Given the description of an element on the screen output the (x, y) to click on. 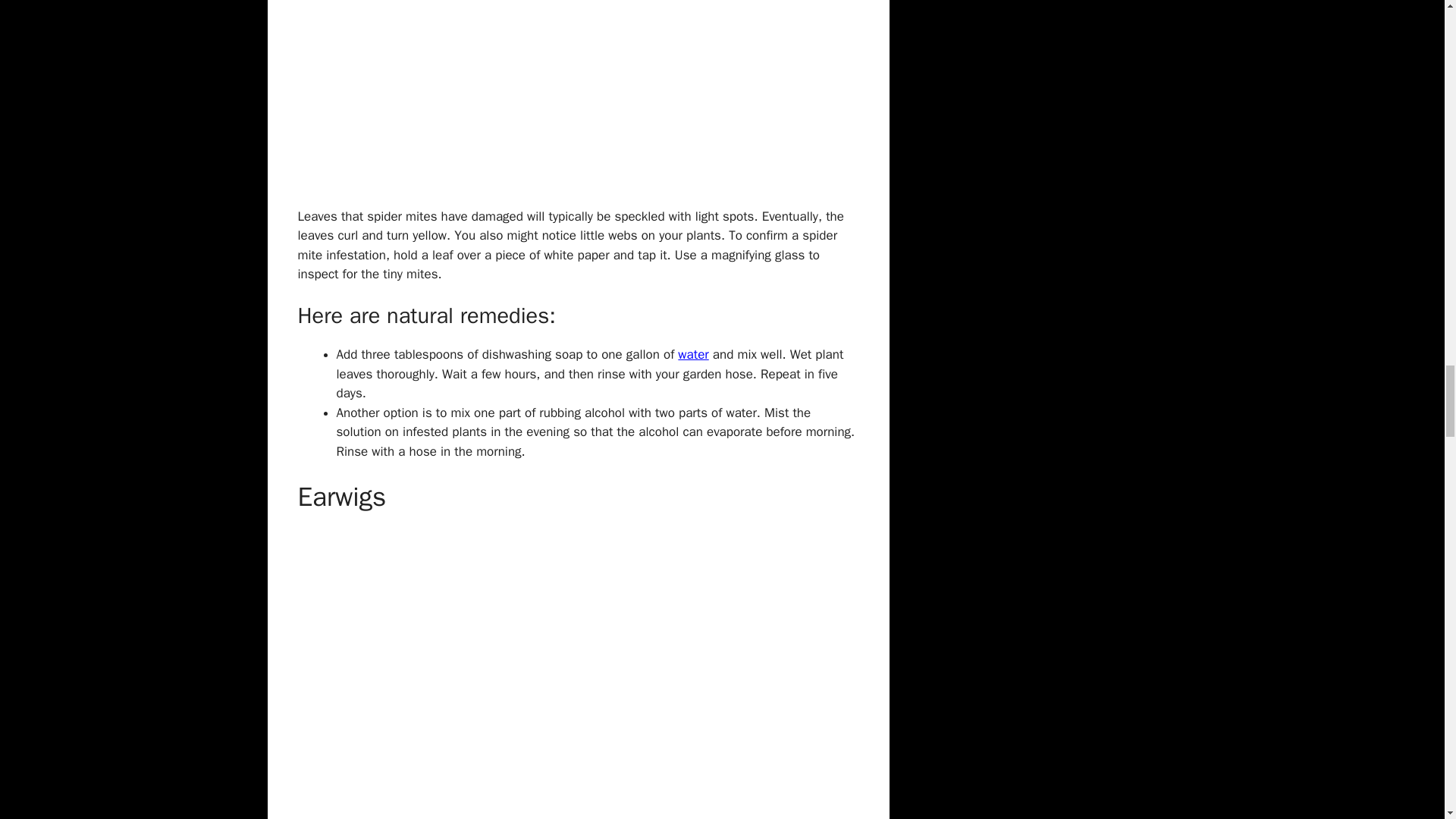
Megadrought USA auto (692, 354)
